Given the description of an element on the screen output the (x, y) to click on. 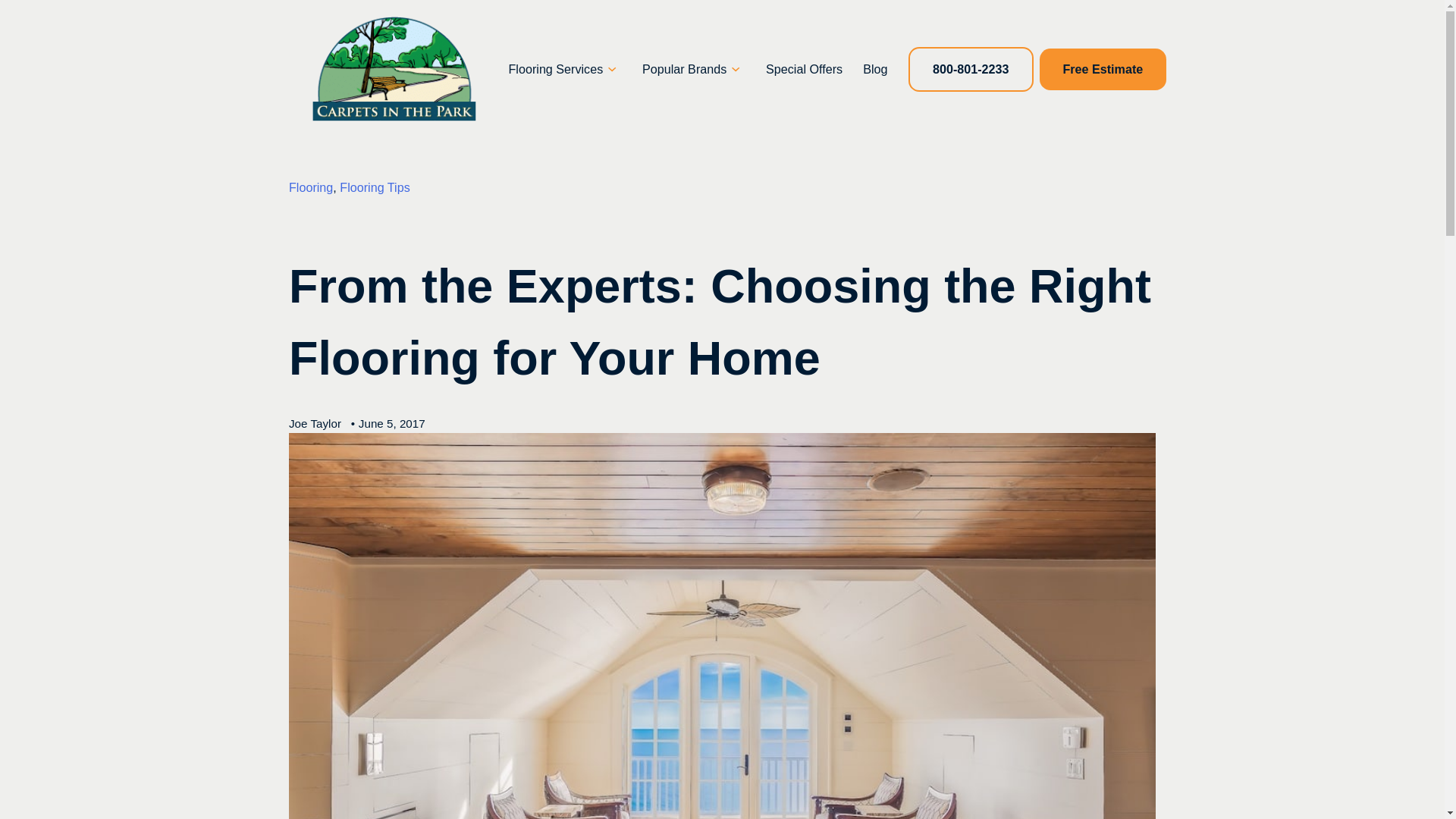
Flooring Tips (374, 187)
Flooring (310, 187)
Free Estimate (1102, 69)
Special Offers (804, 68)
800-801-2233 (970, 68)
Popular Brands (684, 68)
Flooring Services (556, 68)
Blog (874, 68)
